Given the description of an element on the screen output the (x, y) to click on. 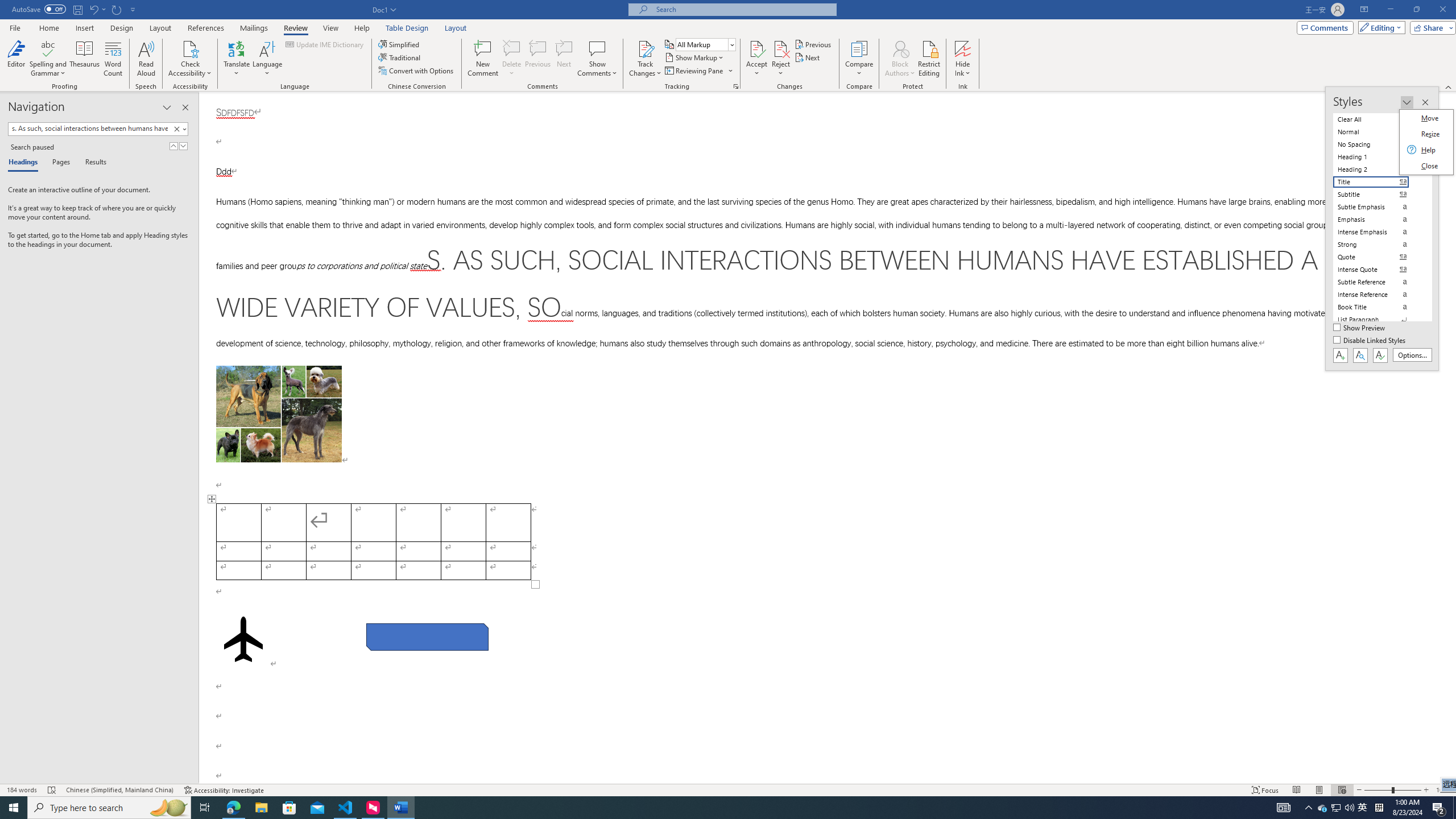
Check Accessibility (189, 48)
Next Result (183, 145)
Spelling and Grammar (48, 58)
Intense Emphasis (1377, 232)
Delete (511, 48)
Reject (780, 58)
